Given the description of an element on the screen output the (x, y) to click on. 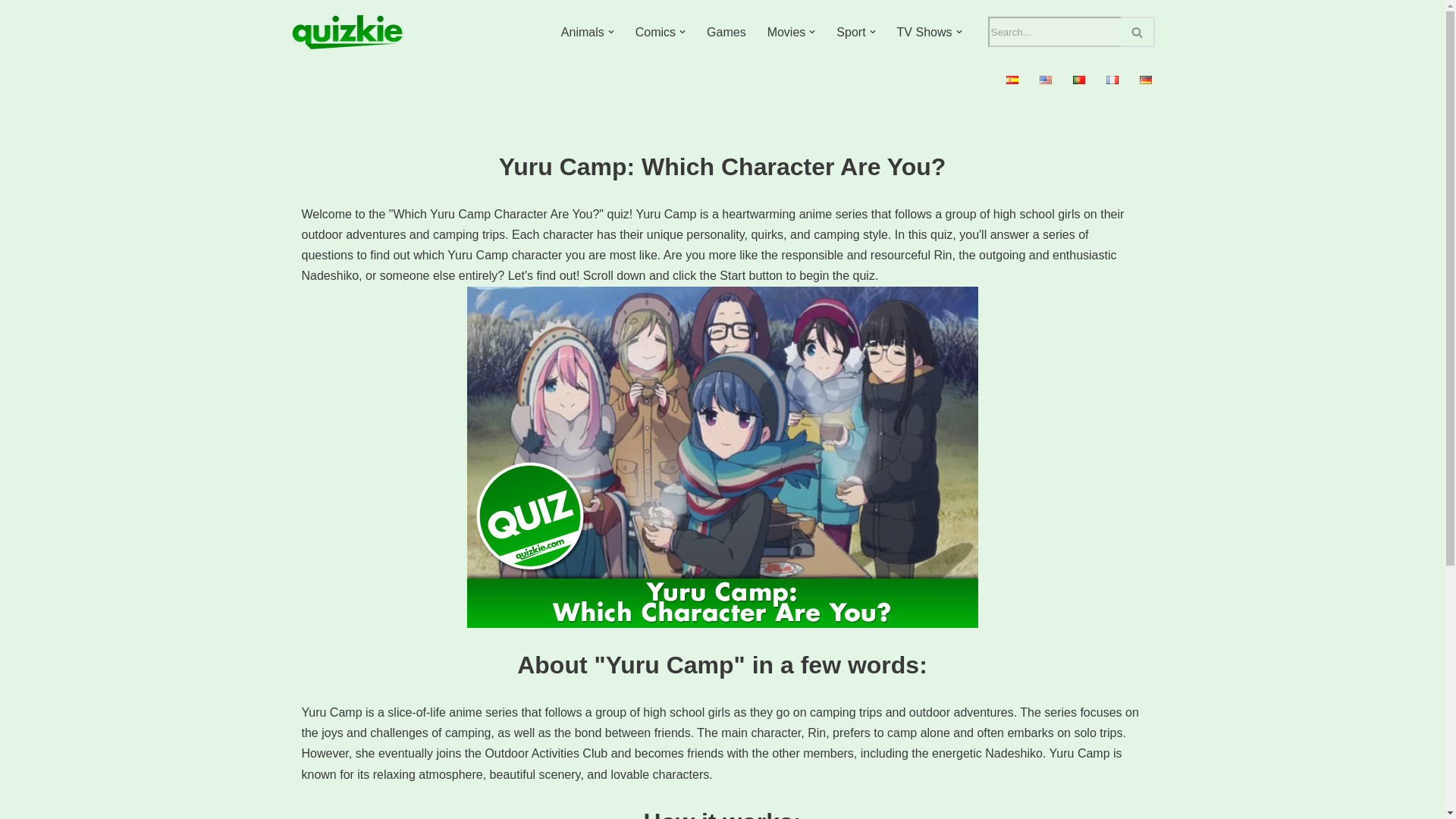
Movies (786, 32)
Animals (582, 32)
Games (725, 32)
TV Shows (924, 32)
Comics (654, 32)
Sport (849, 32)
Skip to content (11, 31)
